Given the description of an element on the screen output the (x, y) to click on. 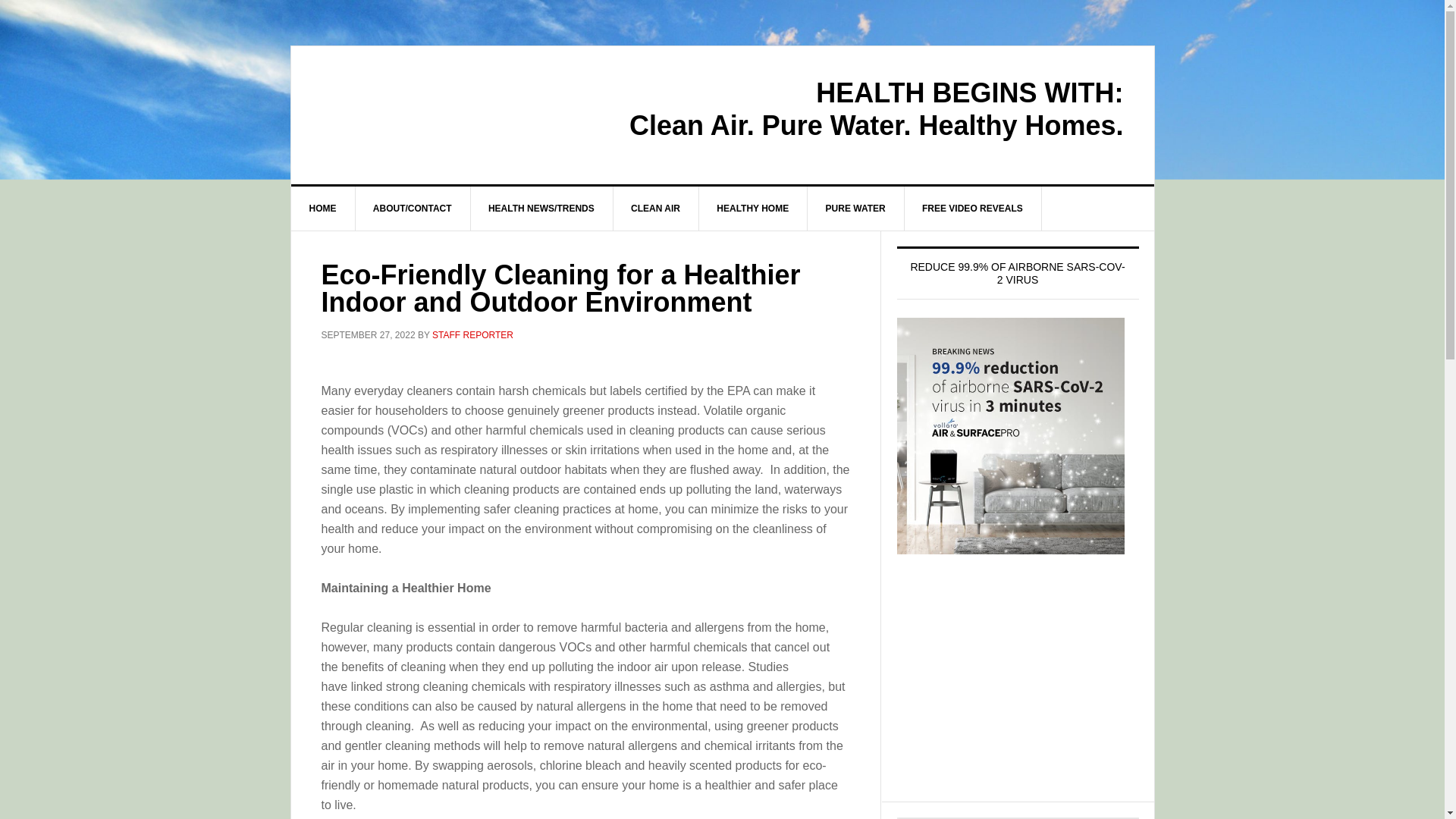
CLEAN AIR (655, 208)
STAFF REPORTER (472, 335)
FREE VIDEO REVEALS (973, 208)
Advertisement (1017, 691)
ALL HEALTHY NEWS (419, 110)
PURE WATER (856, 208)
HOME (323, 208)
HEALTHY HOME (753, 208)
